Given the description of an element on the screen output the (x, y) to click on. 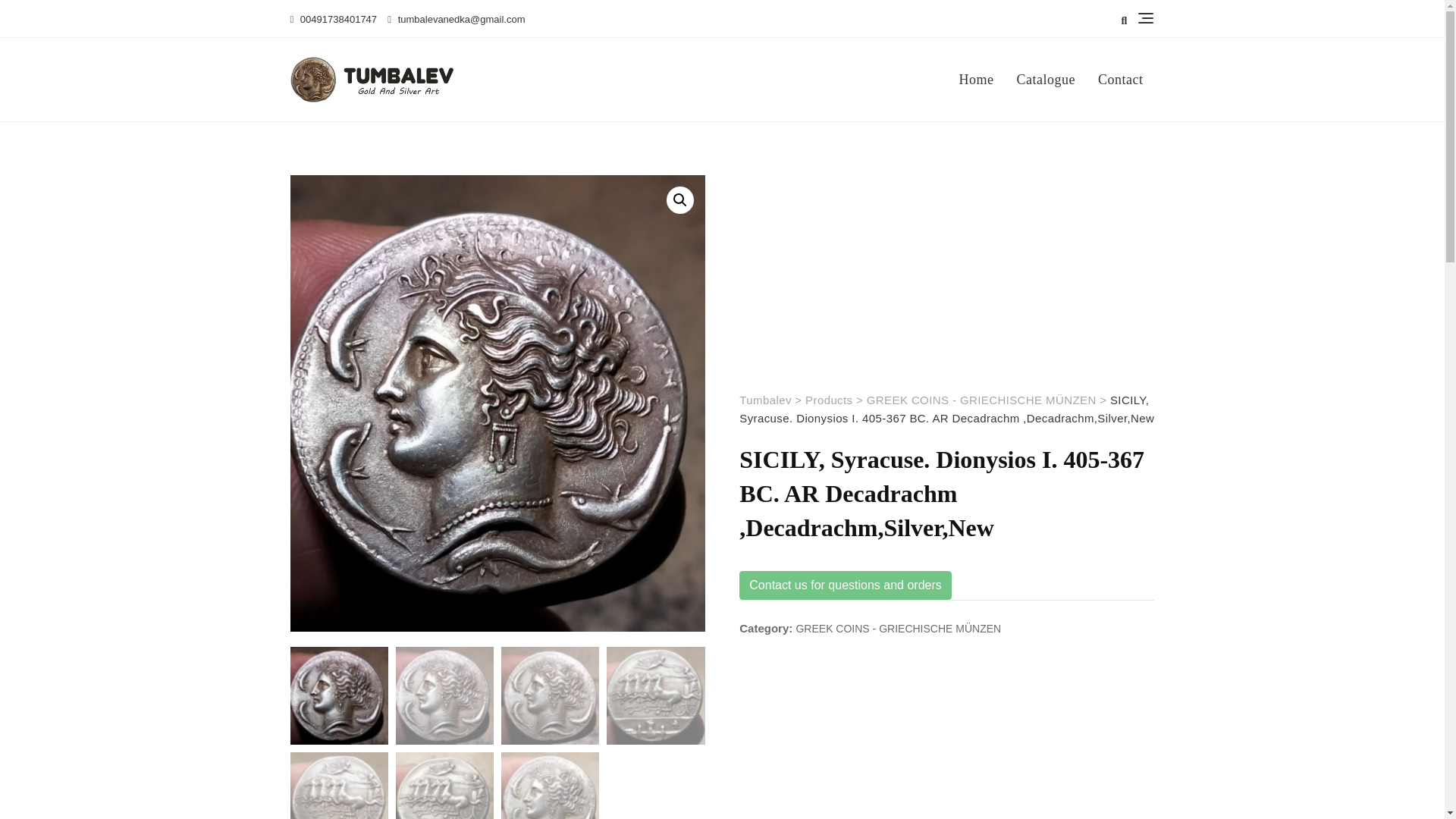
Contact (1120, 79)
Go to Products. (828, 399)
Tumbalev (765, 399)
Go to Tumbalev. (765, 399)
Catalogue (1046, 79)
Home (982, 79)
00491738401747 (333, 19)
